Given the description of an element on the screen output the (x, y) to click on. 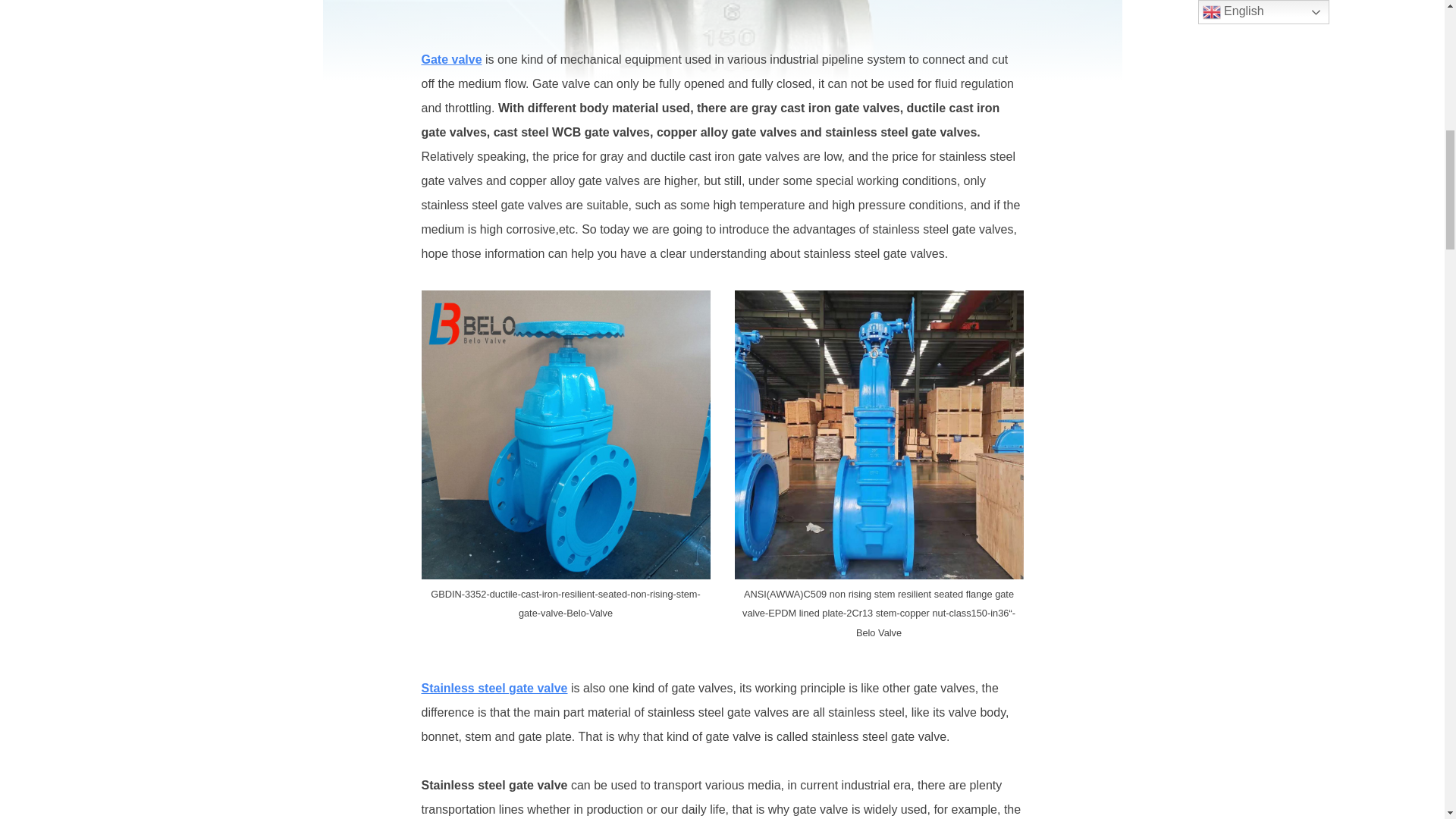
Gate valve (451, 59)
Stainless steel gate valve (494, 687)
